Given the description of an element on the screen output the (x, y) to click on. 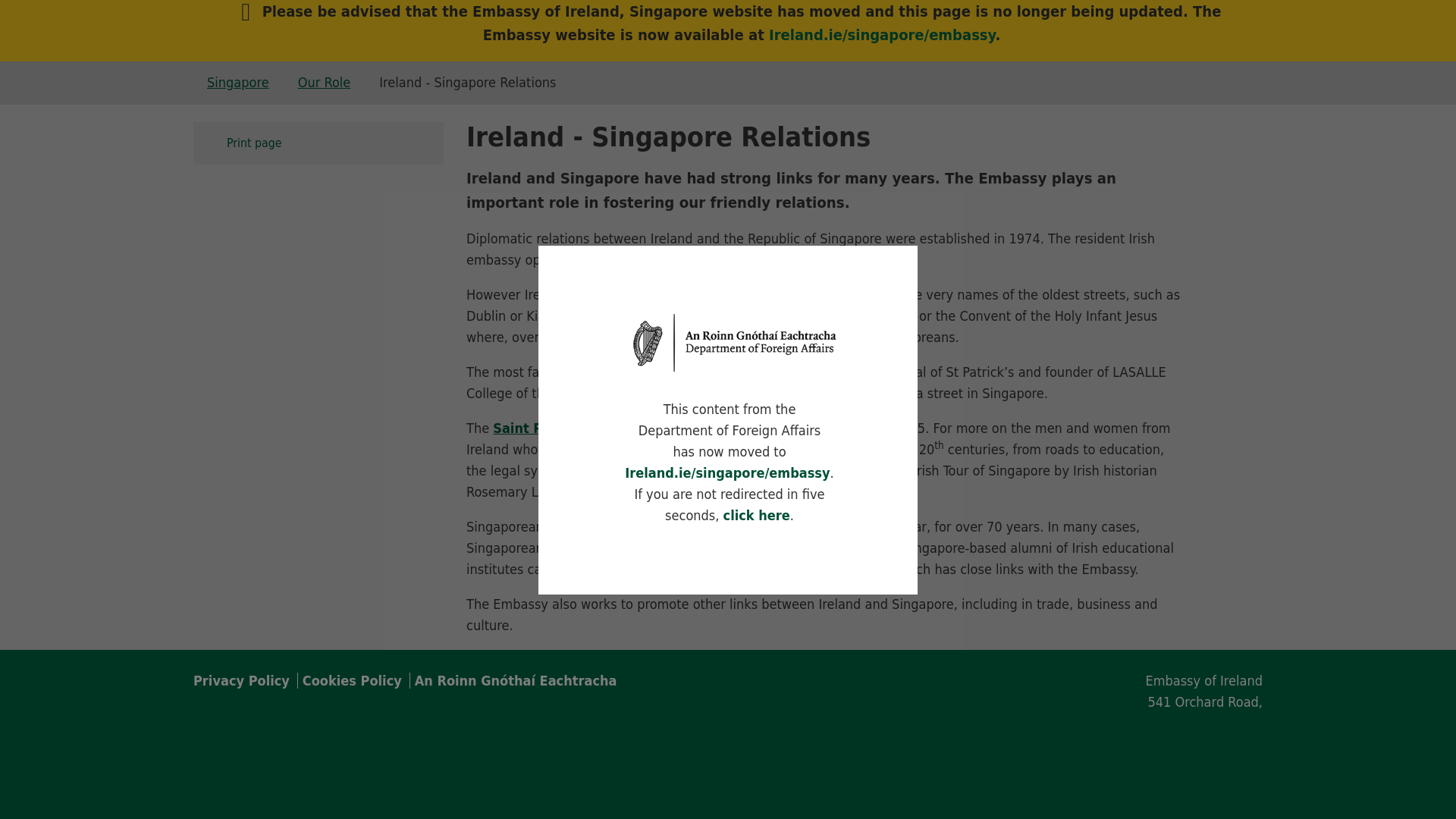
Our Role (324, 82)
Print page (317, 143)
Privacy Policy (243, 680)
Irish Graduates Association of Singapore (745, 569)
click here (756, 399)
Singapore (237, 82)
Cookies Policy (351, 680)
